Given the description of an element on the screen output the (x, y) to click on. 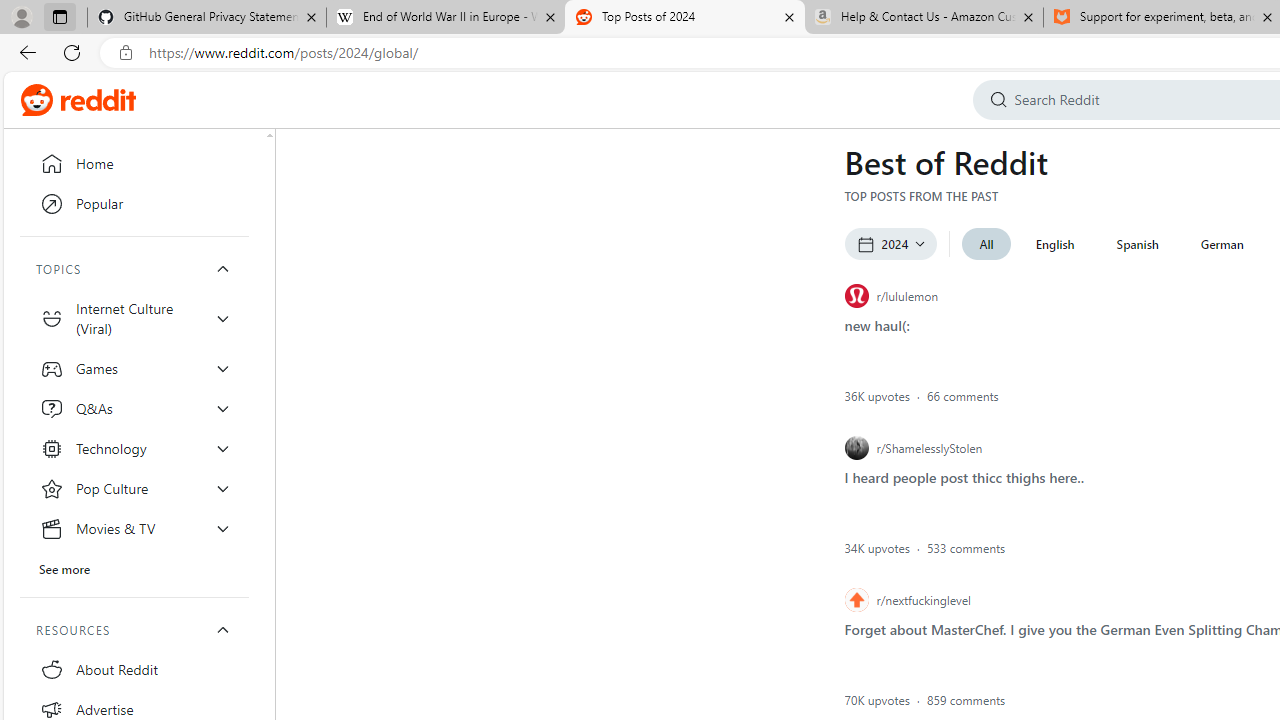
Top Posts of 2024 (684, 17)
Class: h-[22px] (98, 99)
Games (134, 368)
r/lululemon icon (856, 295)
Popular (134, 203)
All (986, 243)
Help & Contact Us - Amazon Customer Service - Sleeping (924, 17)
GitHub General Privacy Statement - GitHub Docs (207, 17)
End of World War II in Europe - Wikipedia (445, 17)
RESOURCES (134, 629)
r/ShamelesslyStolen icon (856, 448)
